Given the description of an element on the screen output the (x, y) to click on. 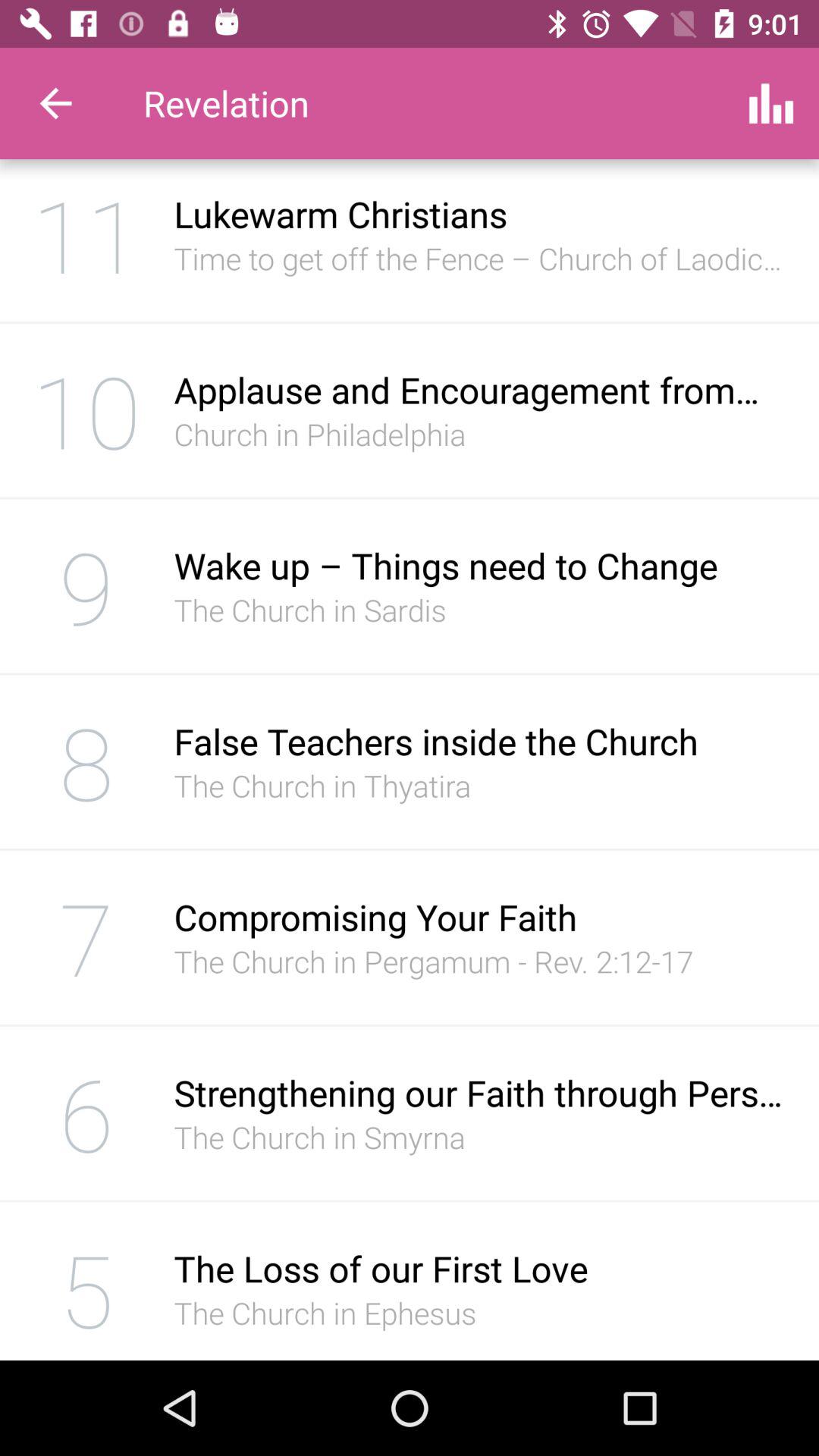
choose the icon below church in philadelphia icon (480, 565)
